Given the description of an element on the screen output the (x, y) to click on. 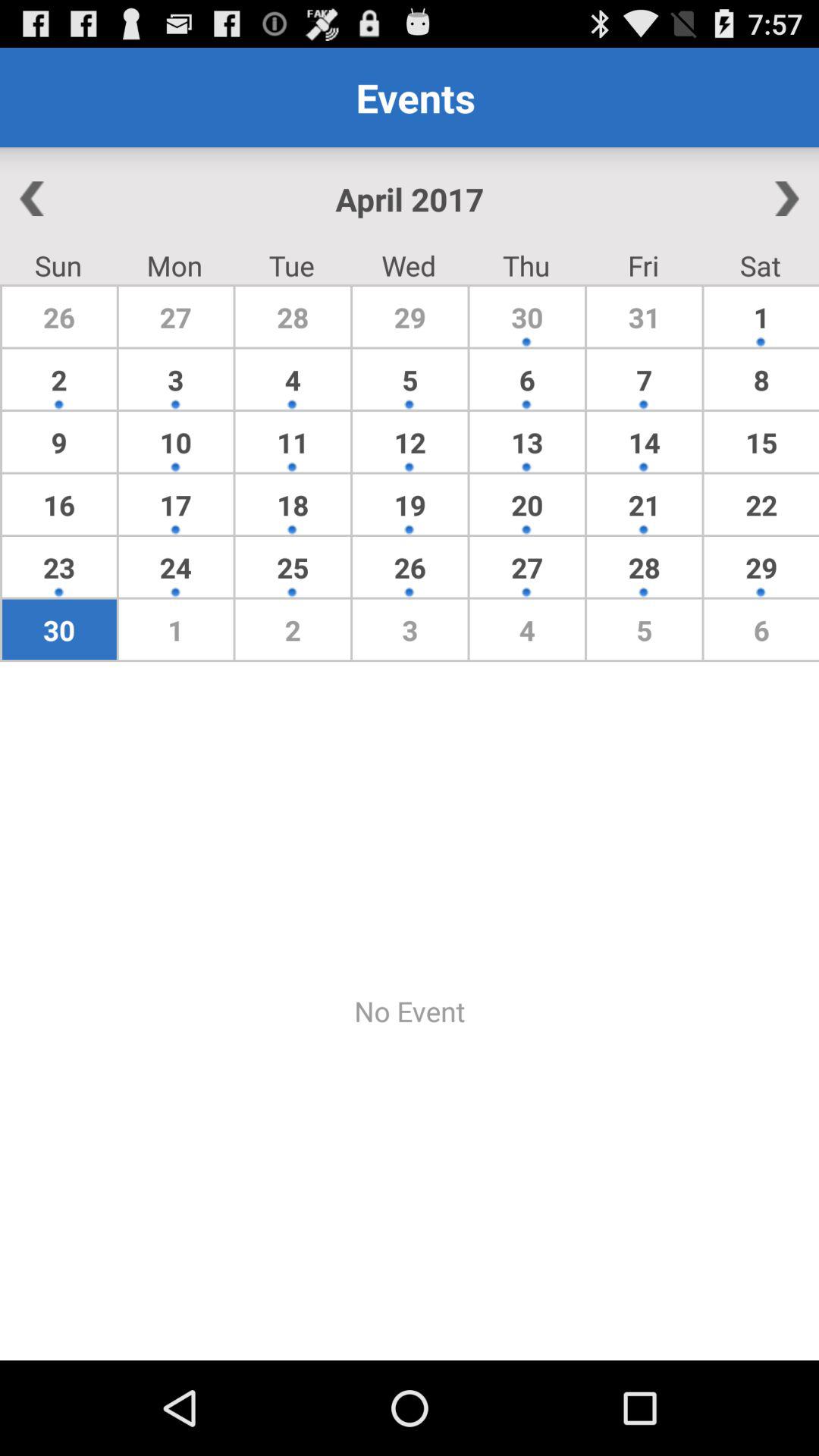
turn on item next to 12 icon (292, 504)
